Given the description of an element on the screen output the (x, y) to click on. 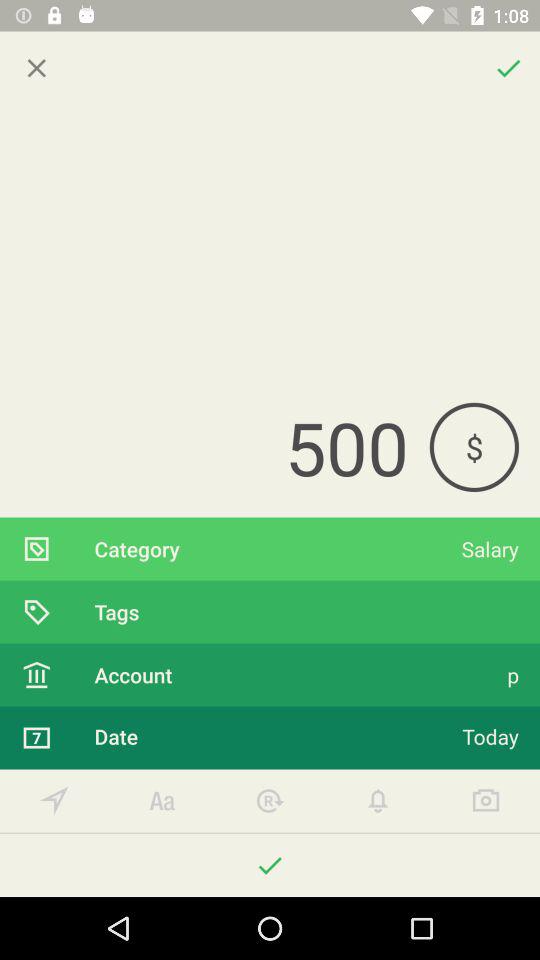
press to get notifications (378, 800)
